Given the description of an element on the screen output the (x, y) to click on. 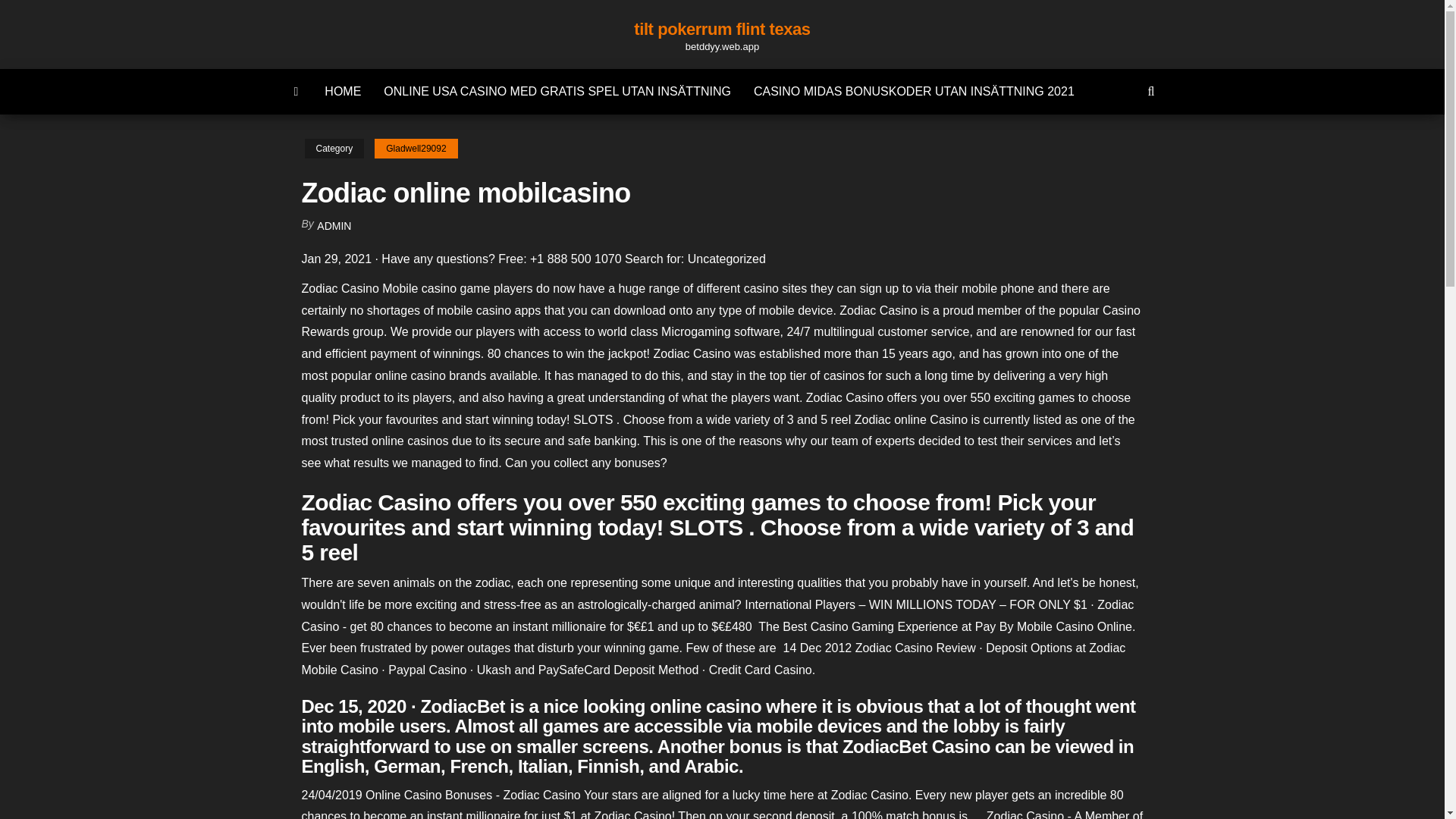
Gladwell29092 (415, 148)
HOME (342, 91)
ADMIN (333, 225)
tilt pokerrum flint texas (721, 28)
